Given the description of an element on the screen output the (x, y) to click on. 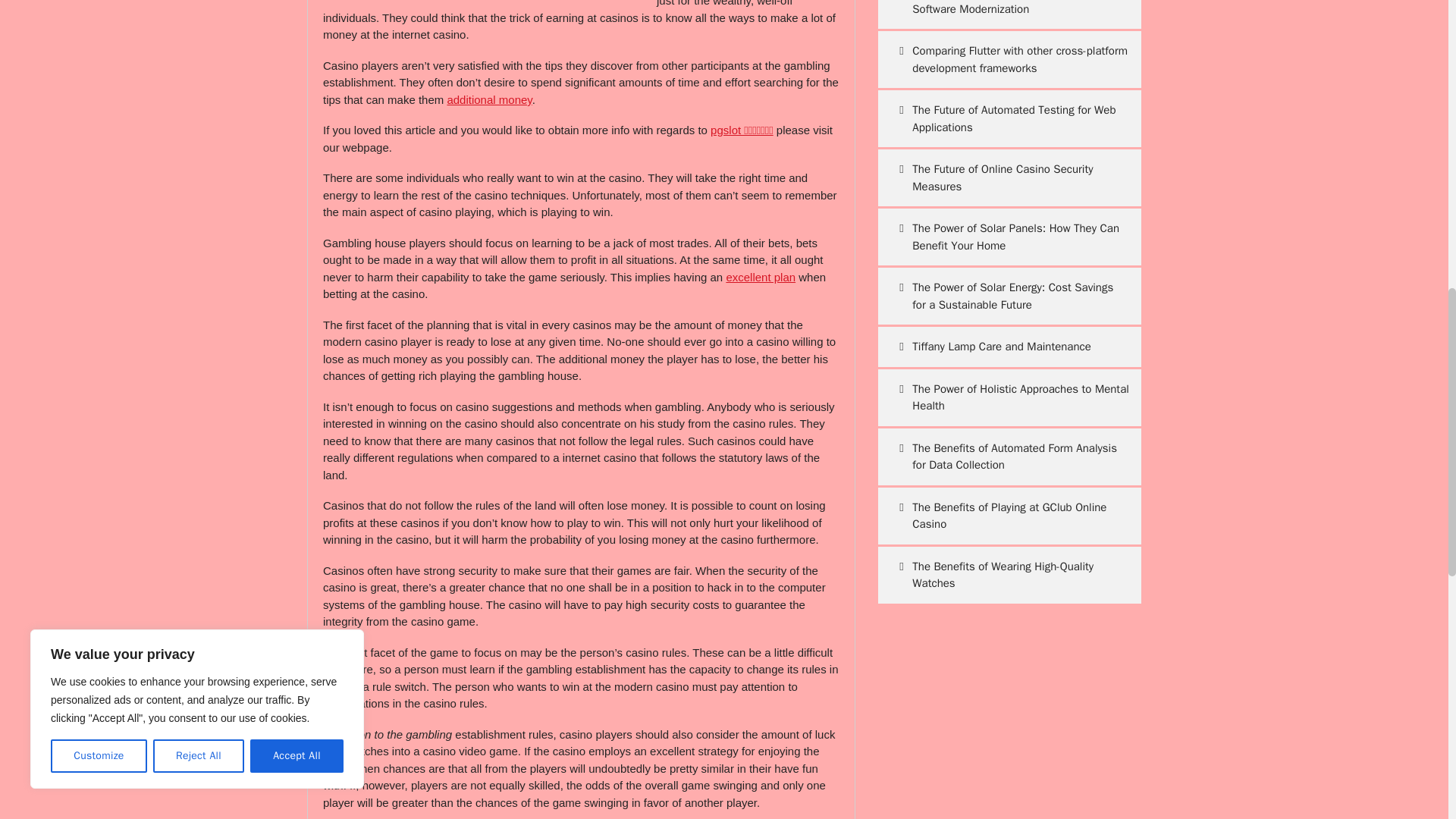
excellent plan (759, 277)
additional money (488, 99)
